Given the description of an element on the screen output the (x, y) to click on. 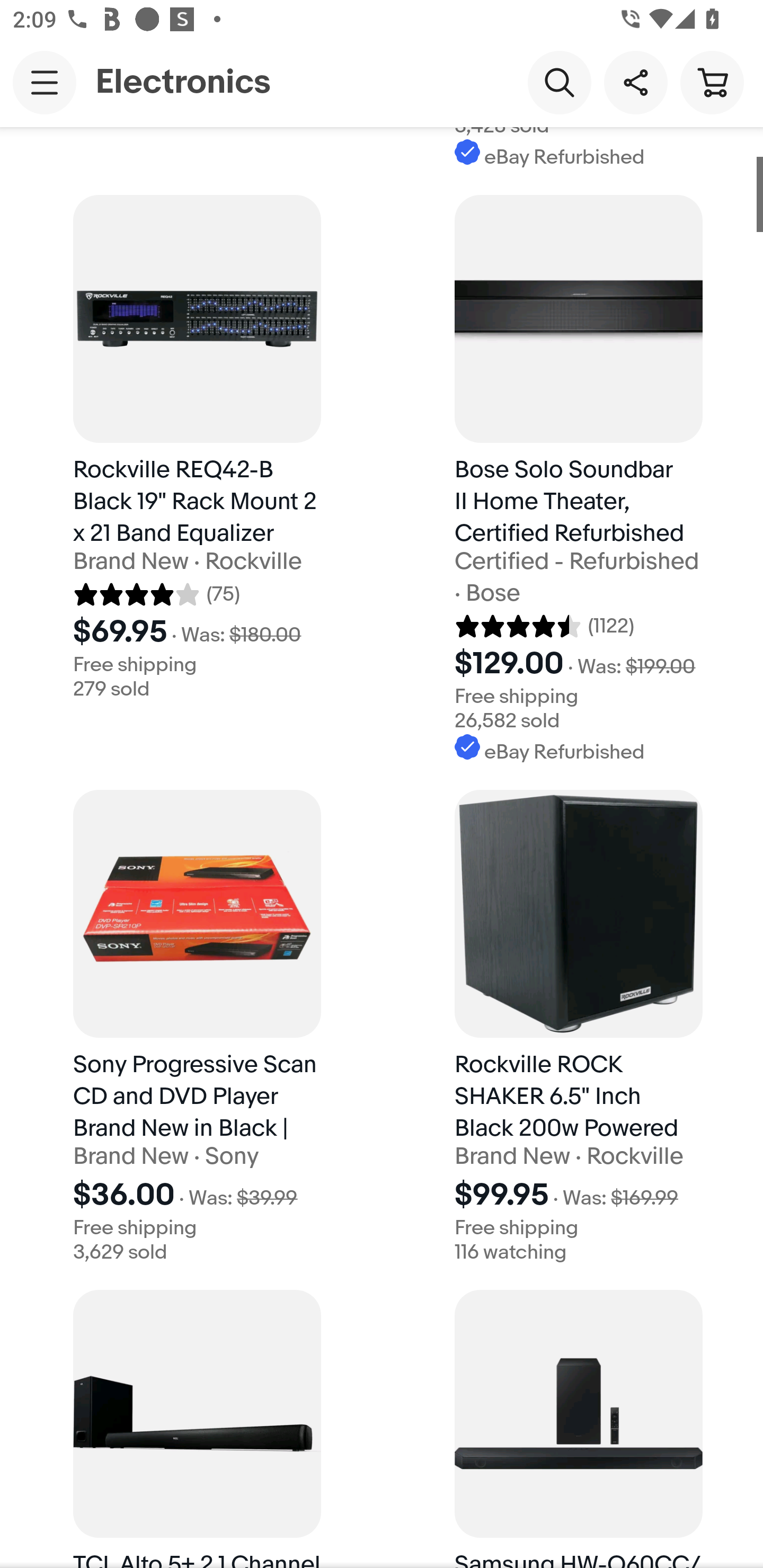
Main navigation, open (44, 82)
Search (559, 81)
Share this page (635, 81)
Cart button shopping cart (711, 81)
